Given the description of an element on the screen output the (x, y) to click on. 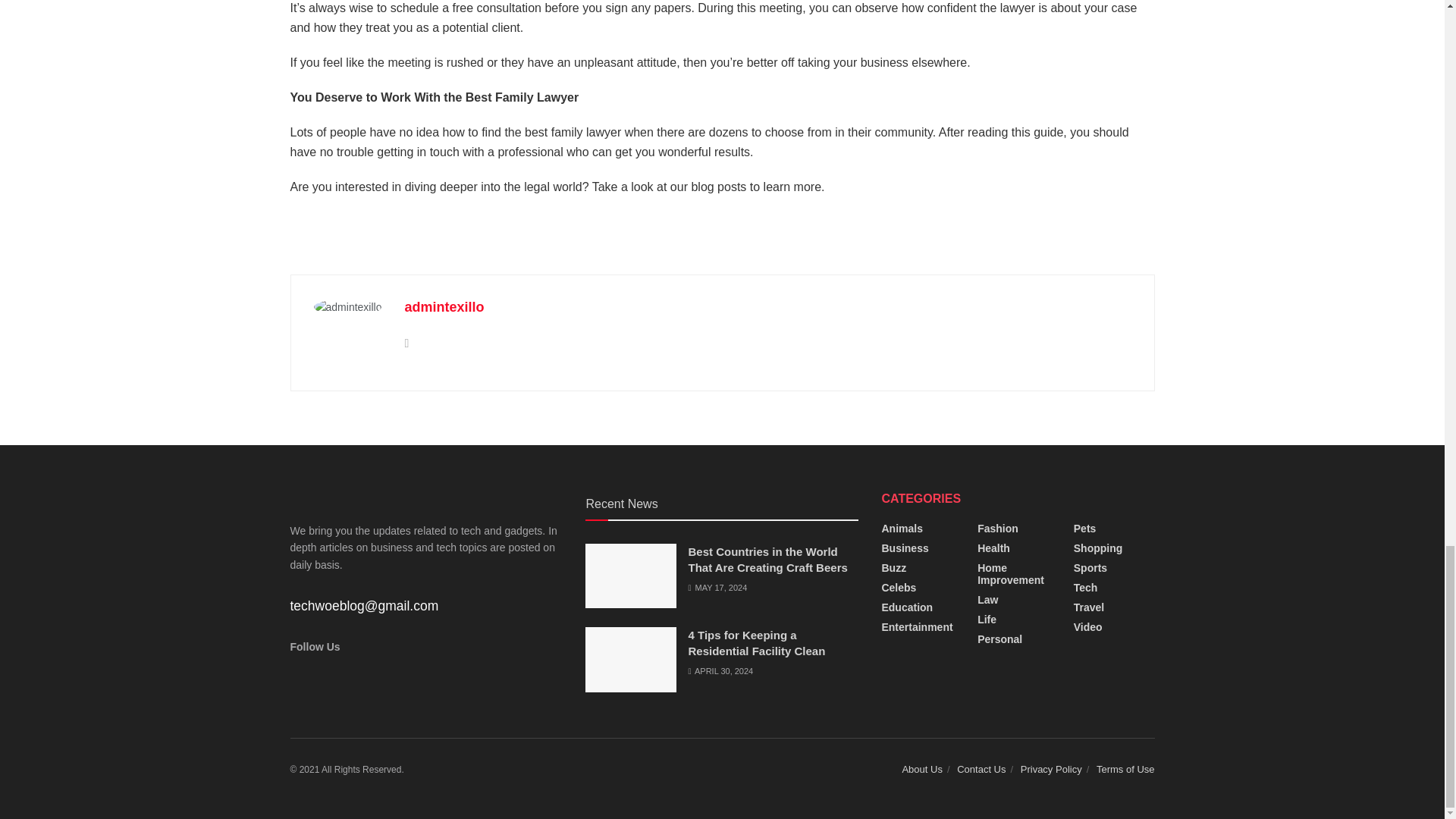
admintexillo (444, 306)
